Given the description of an element on the screen output the (x, y) to click on. 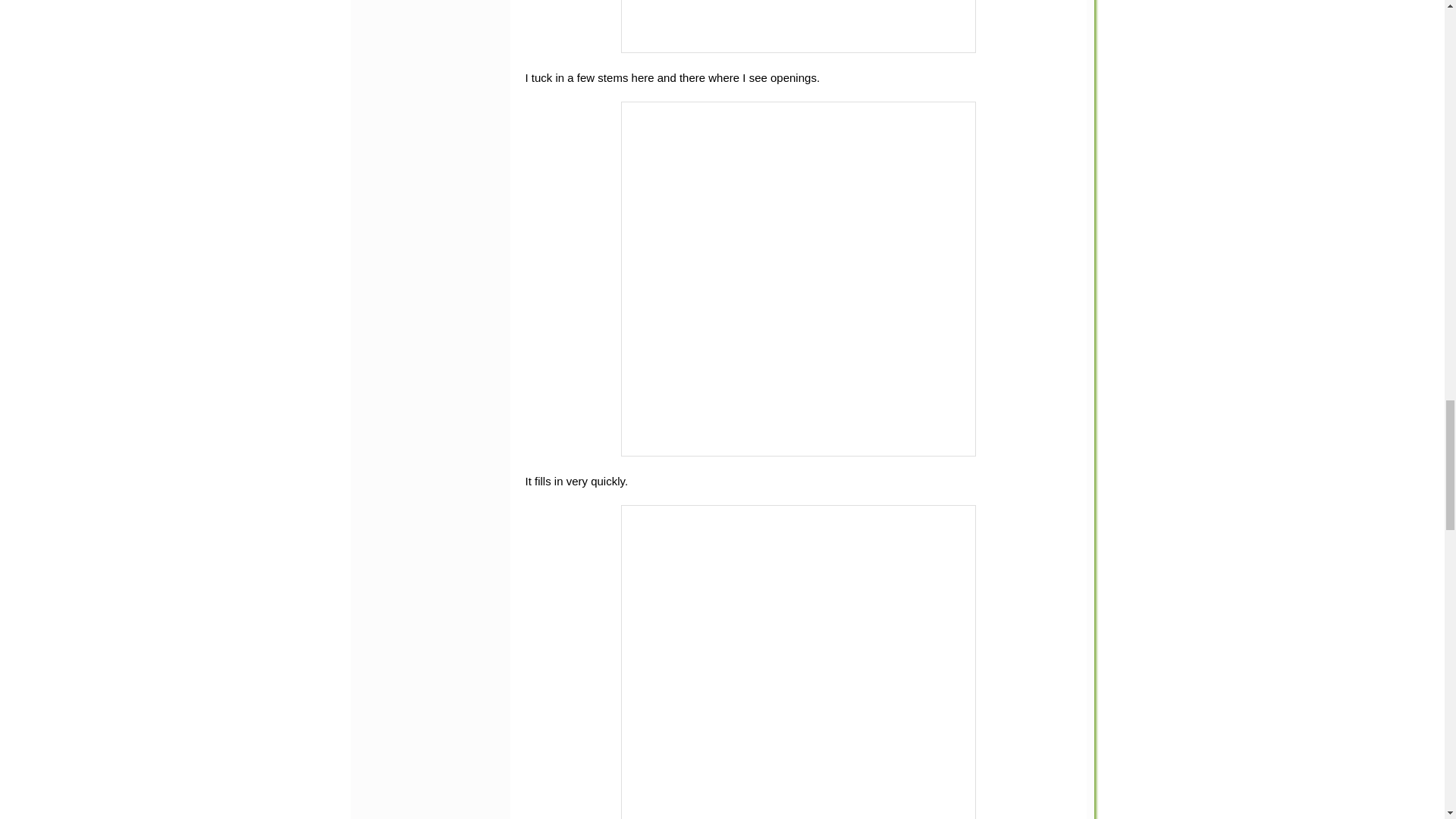
Advertisement (426, 159)
